Given the description of an element on the screen output the (x, y) to click on. 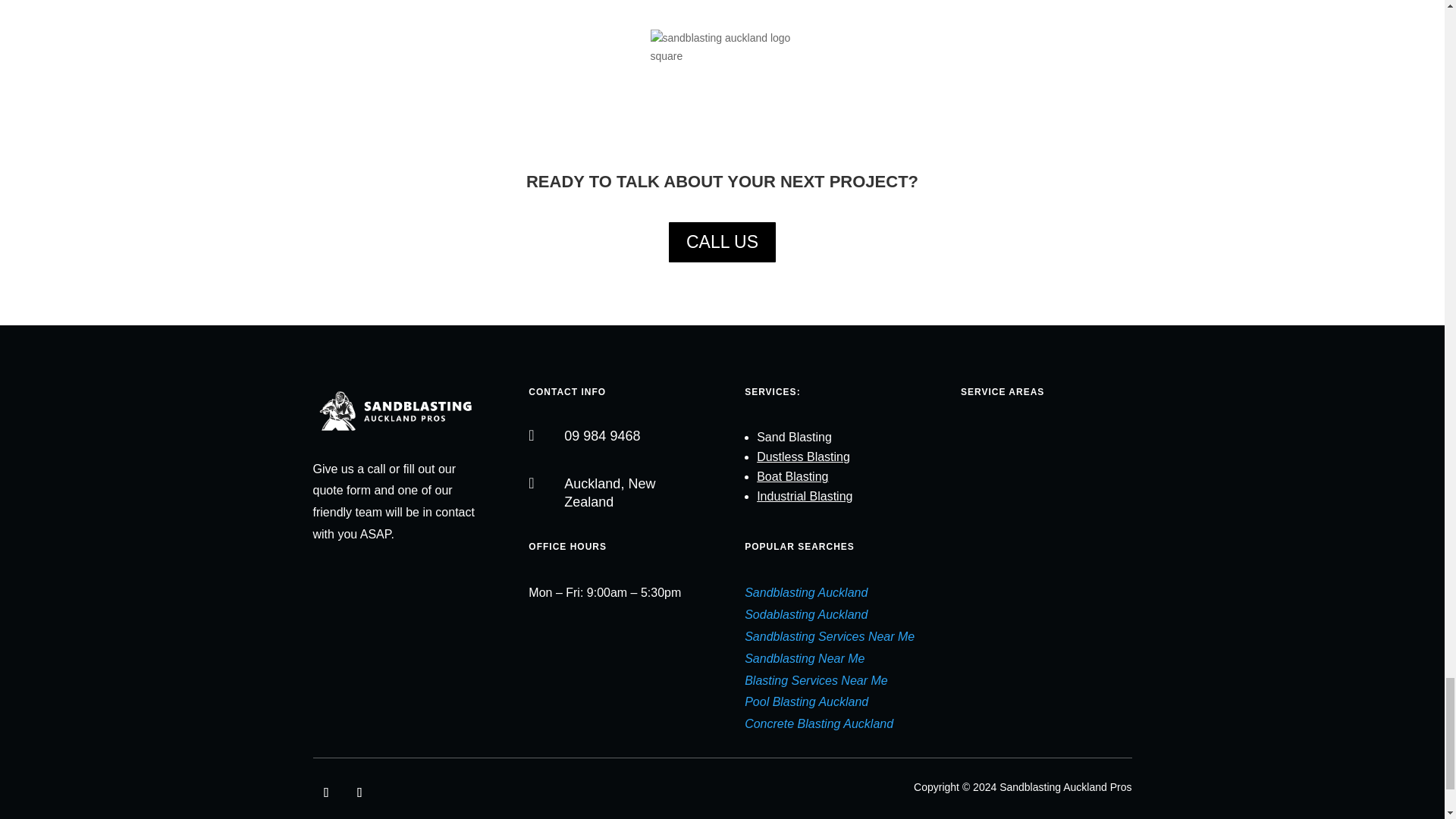
1-AKL-Sand-Blasting-Pros-Logo-white (398, 410)
Follow on Youtube (359, 791)
Follow on Facebook (326, 791)
